Given the description of an element on the screen output the (x, y) to click on. 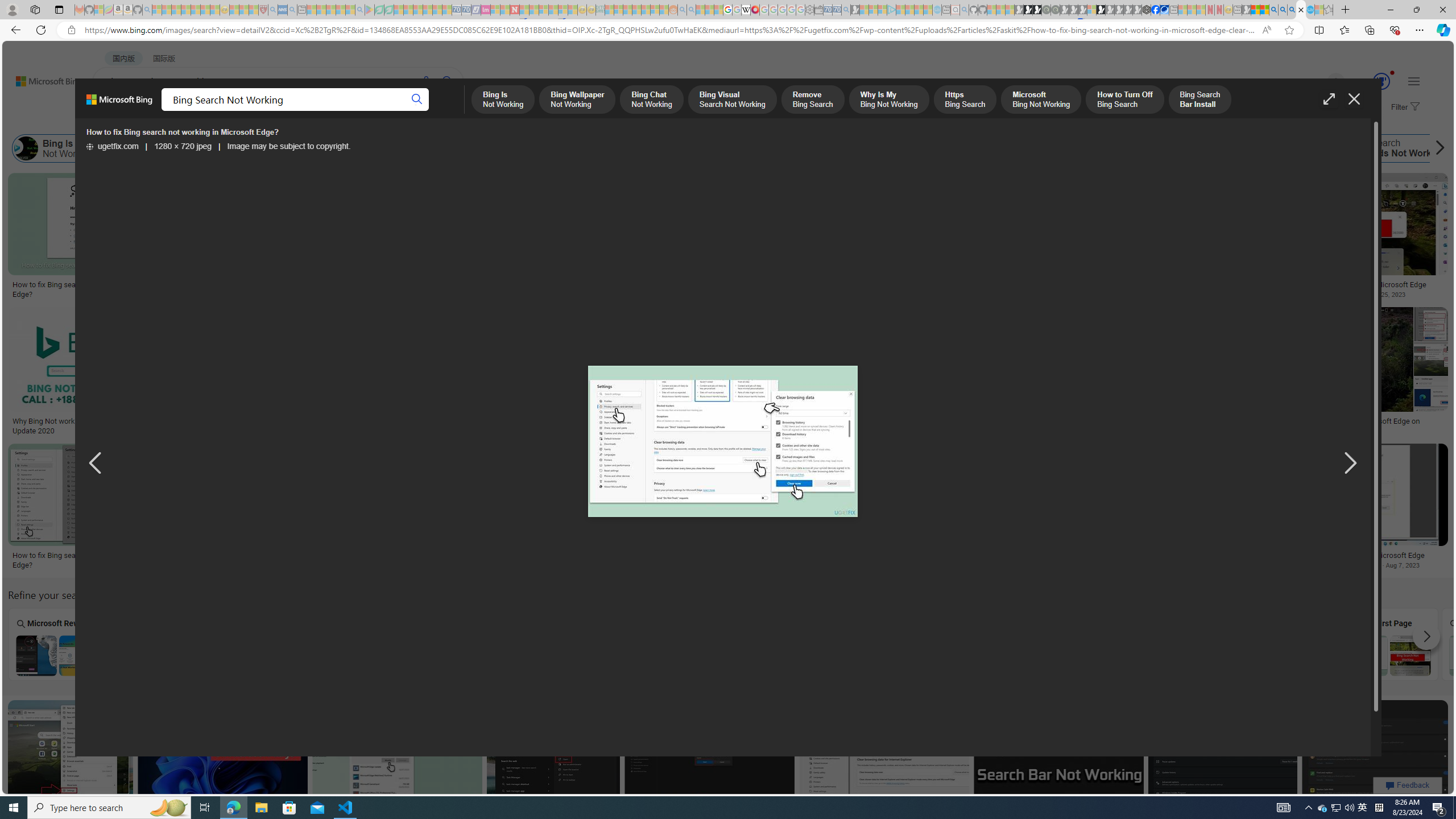
AutomationID: rh_meter (1381, 80)
Full screen (1328, 99)
Microsoft Rewards (56, 643)
Microsoft-Report a Concern to Bing - Sleeping (98, 9)
Why Is My Bing Not Working (558, 148)
Close image (1352, 99)
How to fix Bing search not working in Microsoft Edge? (722, 441)
DICT (407, 111)
Nordace - Cooler Bags (1146, 9)
Search button (417, 99)
Image result for Bing Search Not Working (1374, 750)
